Given the description of an element on the screen output the (x, y) to click on. 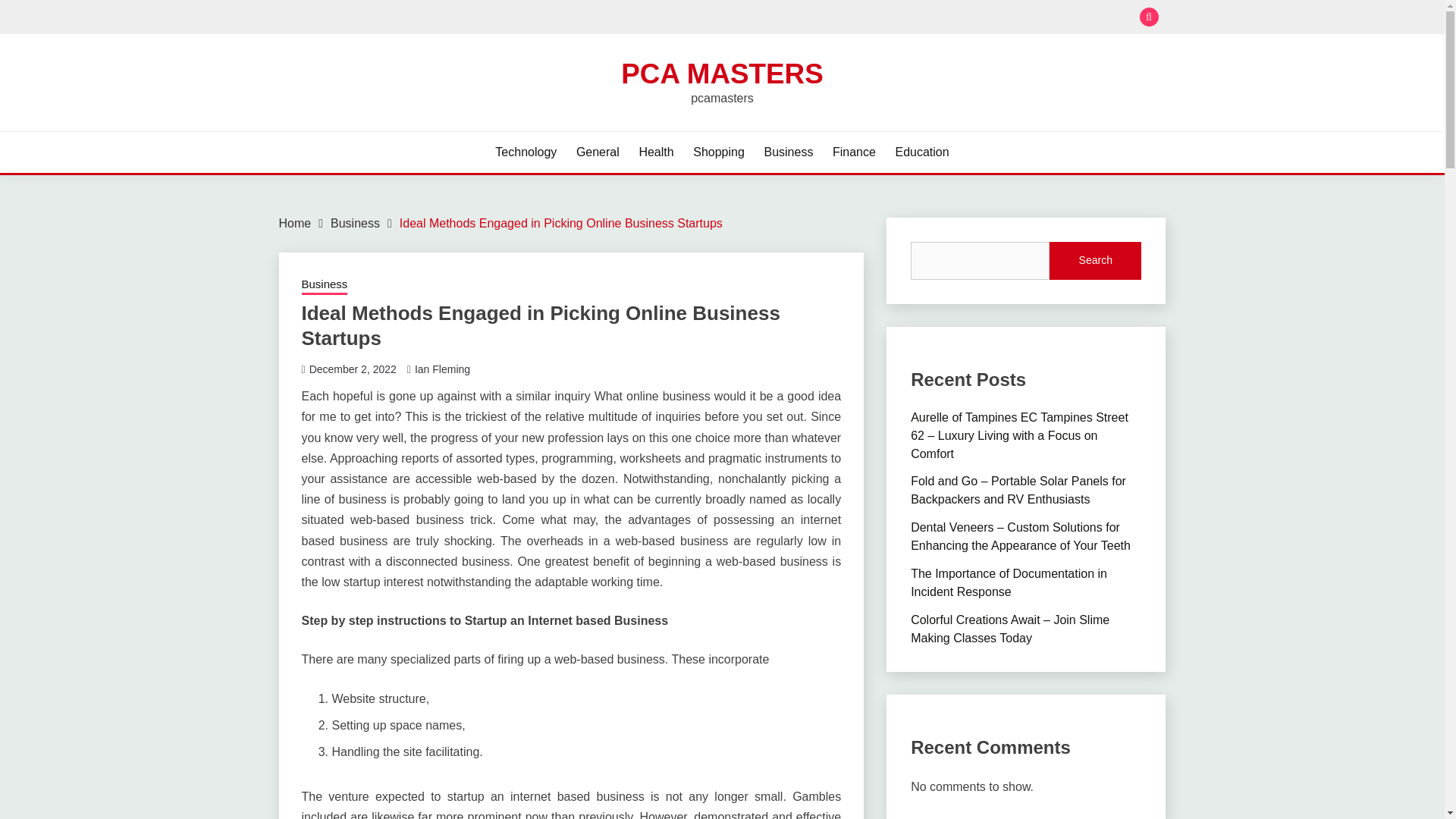
Finance (854, 152)
PCA MASTERS (721, 73)
Technology (525, 152)
Search (832, 18)
Ideal Methods Engaged in Picking Online Business Startups (560, 223)
Home (295, 223)
The Importance of Documentation in Incident Response (1008, 582)
Health (655, 152)
Search (1095, 260)
Business (324, 285)
